Given the description of an element on the screen output the (x, y) to click on. 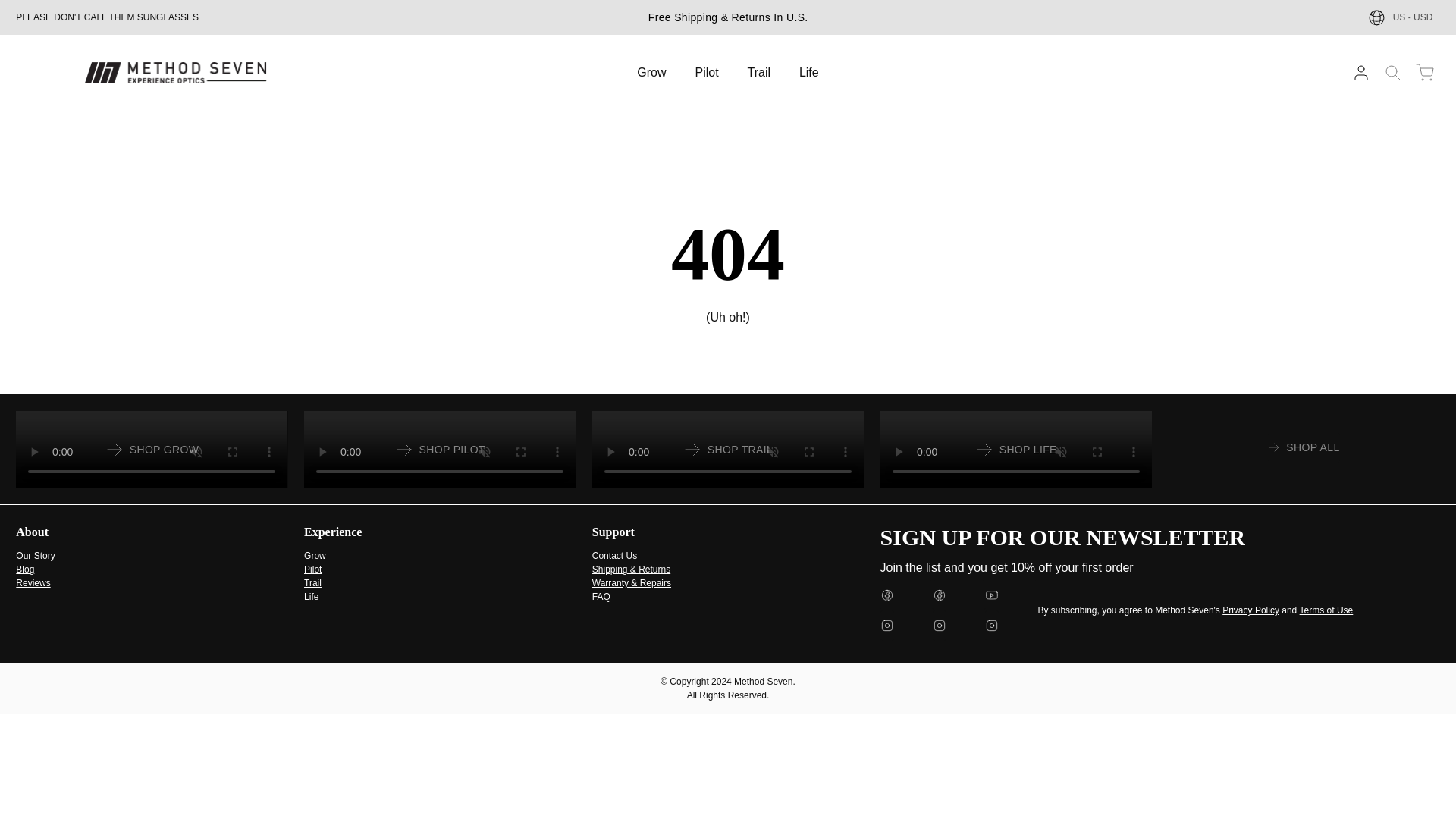
Default blog (24, 569)
Privacy Policy (1327, 610)
Grow Eyewear (315, 555)
Contact (614, 555)
Life Eyewear (311, 596)
Our Story (440, 449)
Pilot Eyewear (439, 449)
Reviews (35, 555)
